Given the description of an element on the screen output the (x, y) to click on. 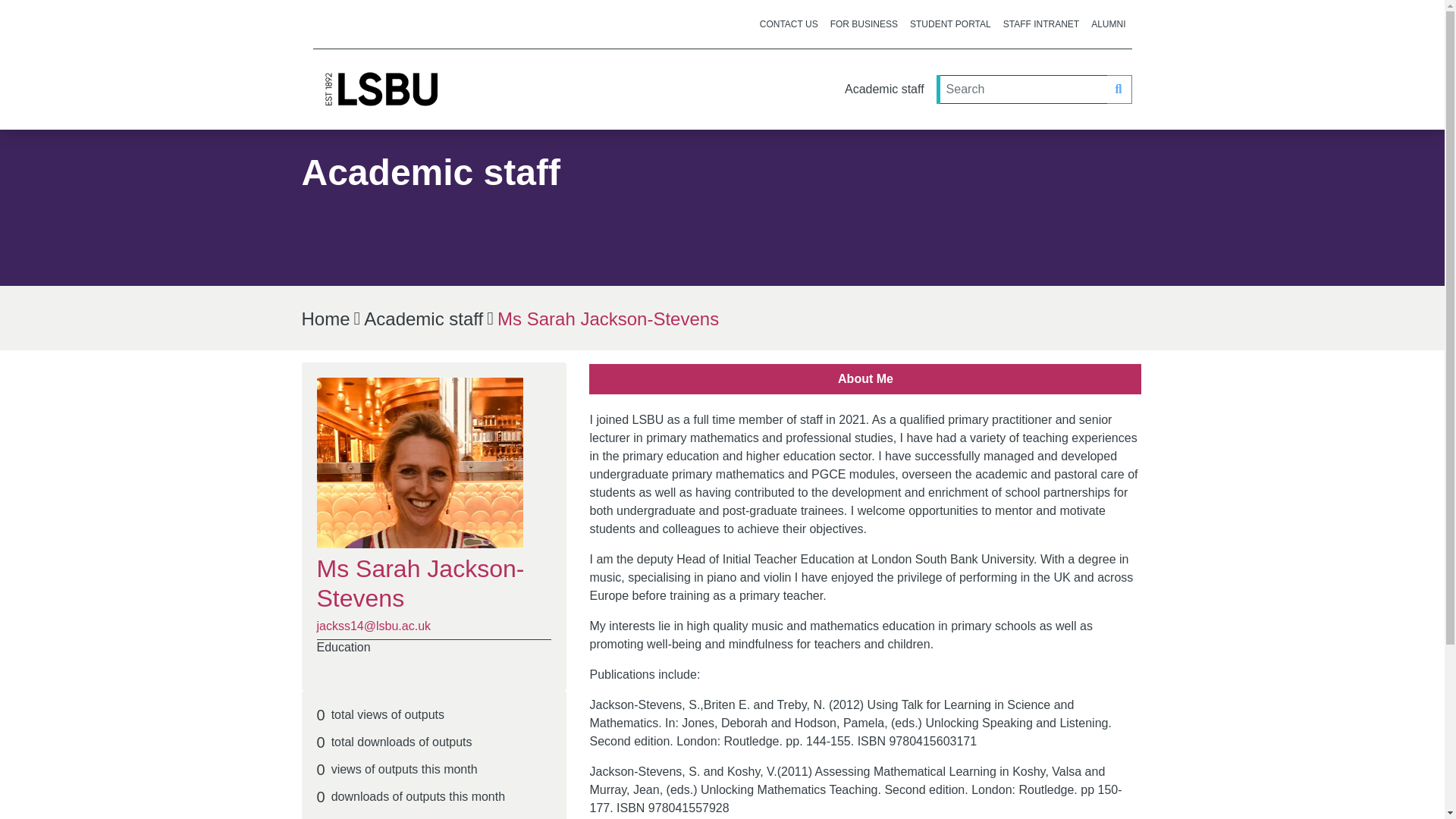
Academic staff (884, 88)
Home (325, 317)
ALUMNI (1107, 23)
About Me (865, 378)
STAFF INTRANET (1040, 23)
CONTACT US (789, 23)
About Me (865, 378)
STUDENT PORTAL (950, 23)
FOR BUSINESS (864, 23)
Academic staff (423, 317)
